Given the description of an element on the screen output the (x, y) to click on. 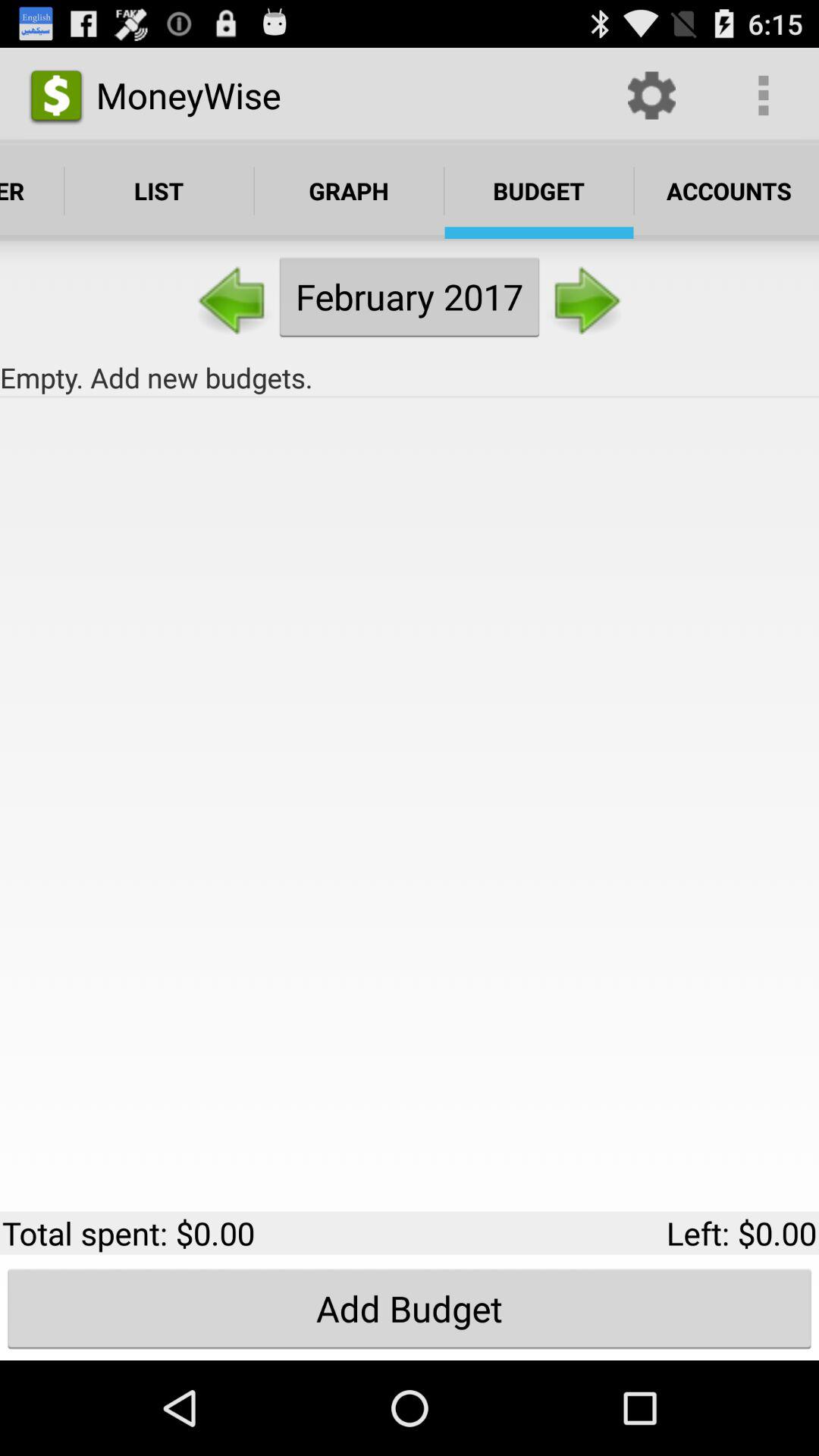
turn on item next to moneywise (651, 95)
